Given the description of an element on the screen output the (x, y) to click on. 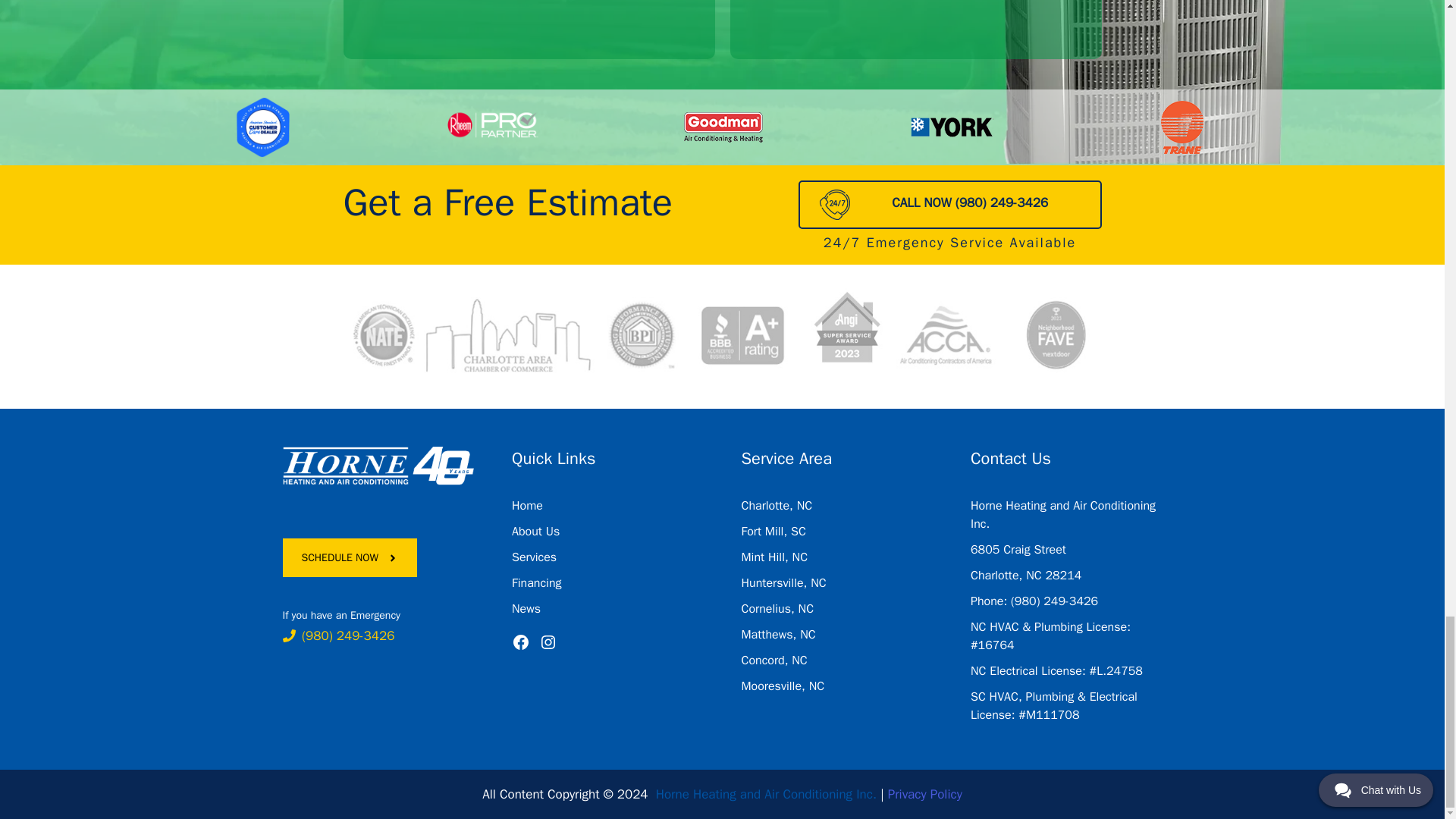
lgos (721, 335)
Goodman2 (722, 127)
rheem2 (492, 127)
icn (834, 204)
amrcn (261, 127)
york1 (952, 127)
Logo2 (378, 466)
Trane (1181, 127)
